Given the description of an element on the screen output the (x, y) to click on. 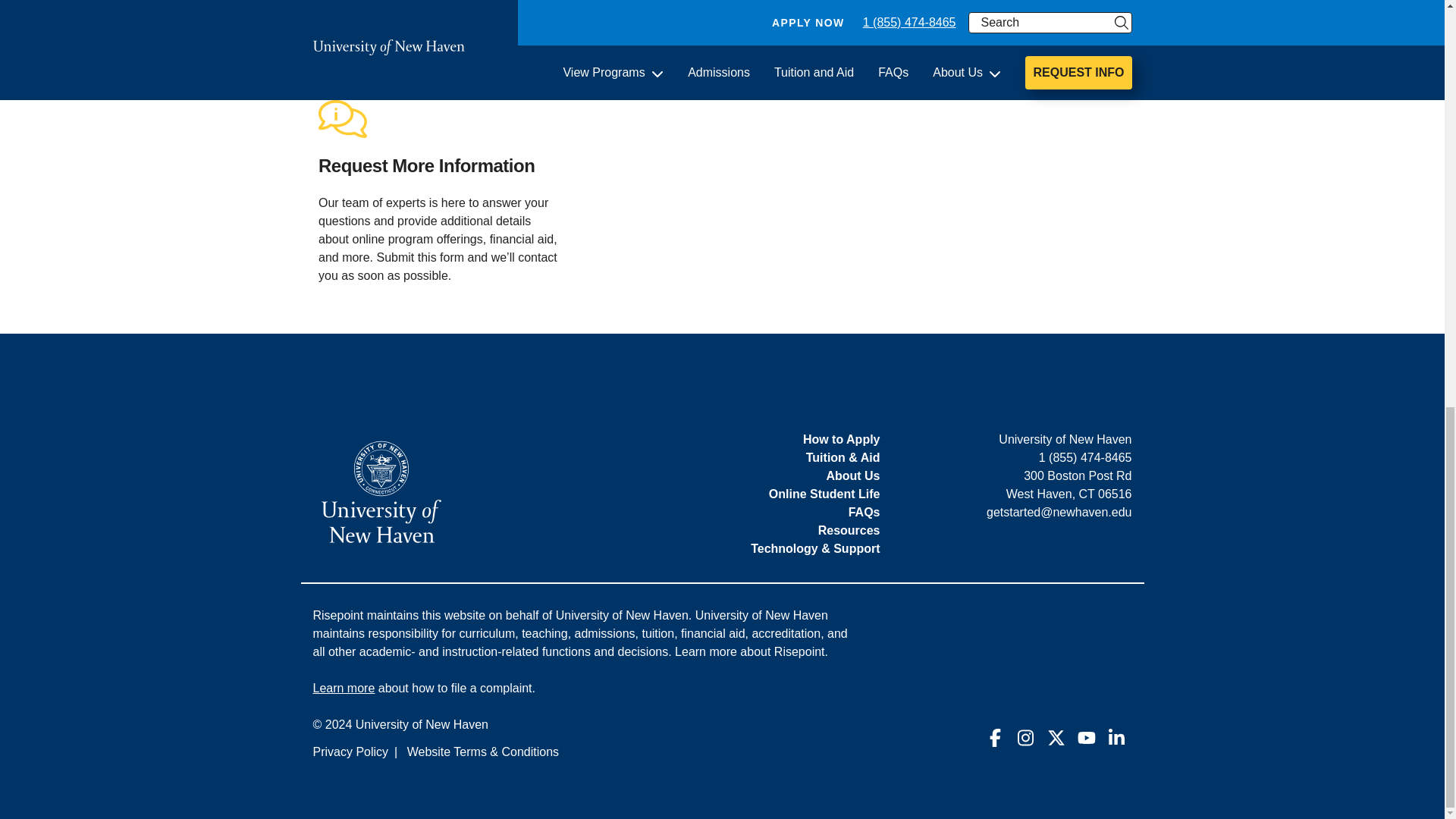
University of New Haven (380, 491)
About Us (852, 475)
Resources (849, 530)
How to Apply (841, 439)
FAQs (864, 512)
Online Student Life (824, 493)
